Given the description of an element on the screen output the (x, y) to click on. 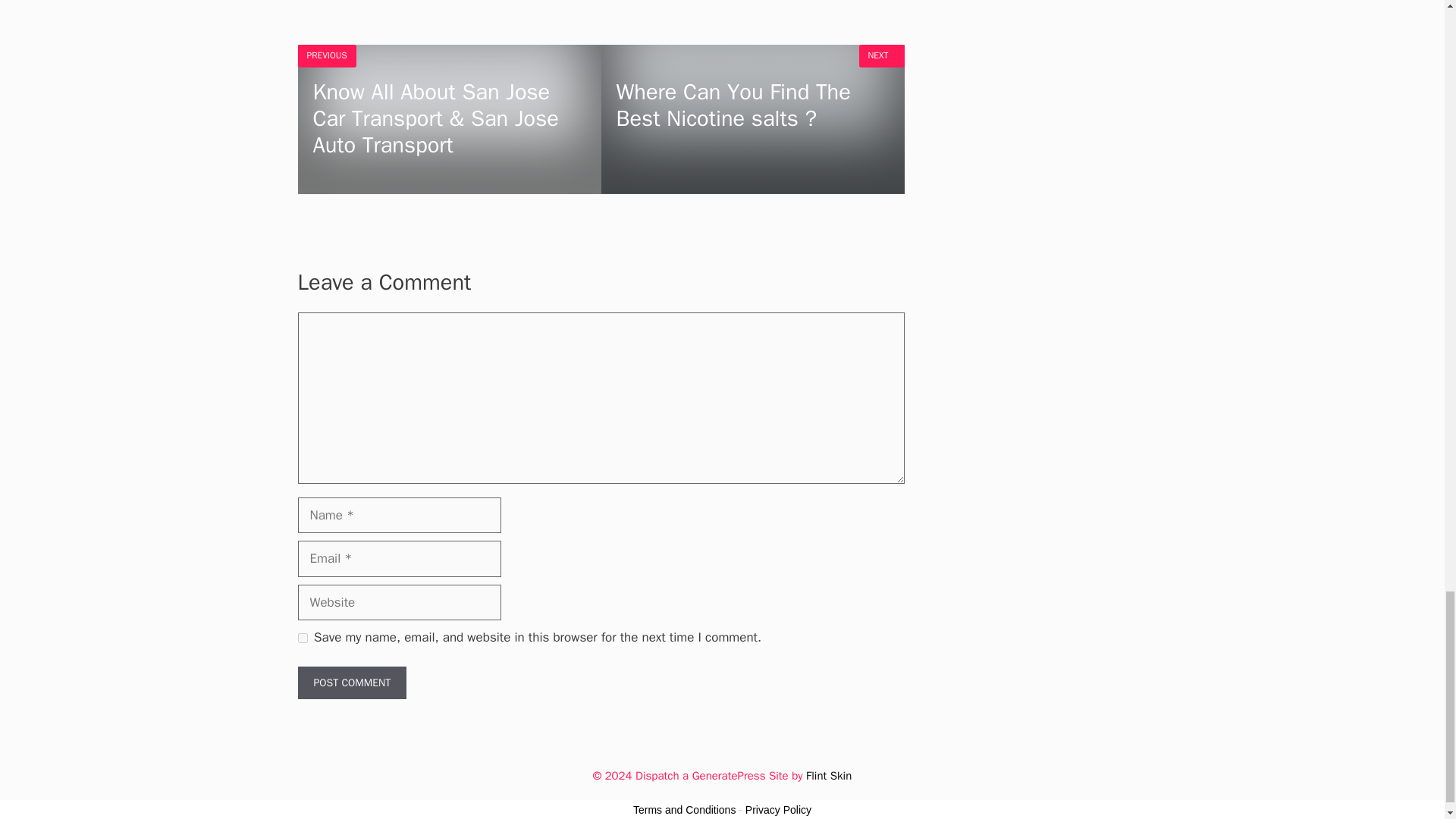
Post Comment (351, 682)
Post Comment (351, 682)
yes (302, 637)
